Given the description of an element on the screen output the (x, y) to click on. 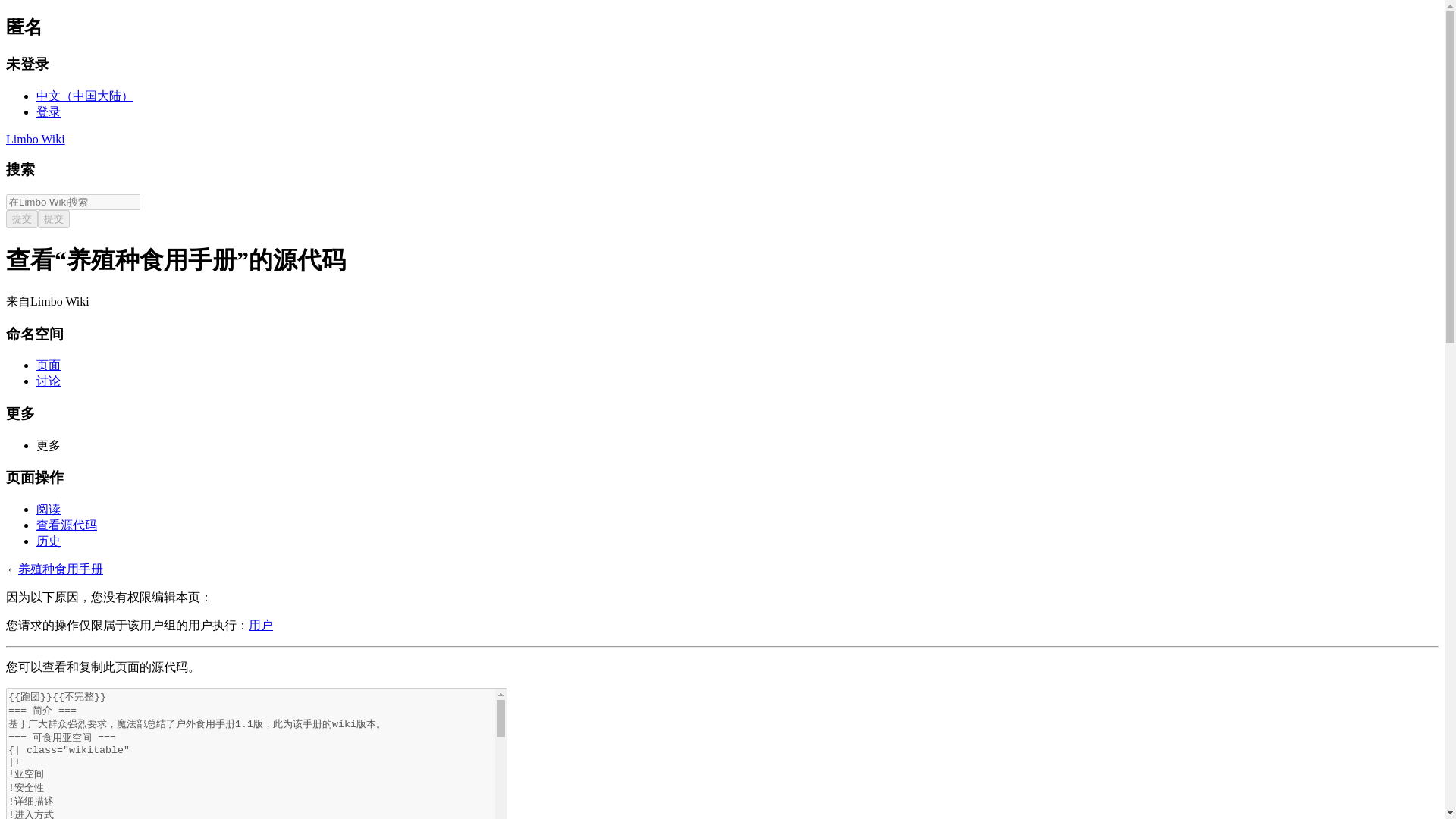
Limbo Wiki (35, 138)
